Given the description of an element on the screen output the (x, y) to click on. 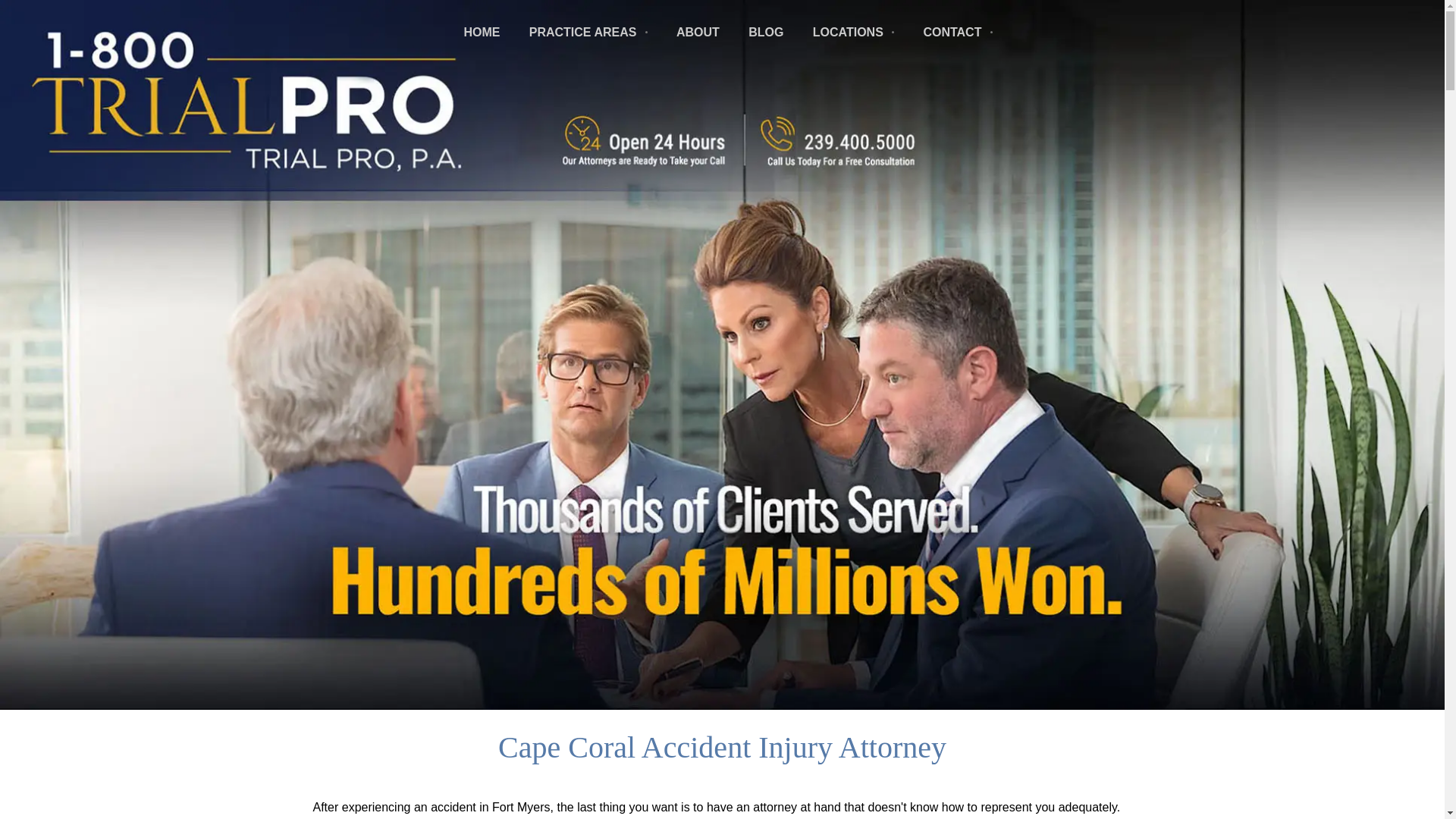
LOCATIONS (852, 32)
PRACTICE AREAS (588, 32)
